Given the description of an element on the screen output the (x, y) to click on. 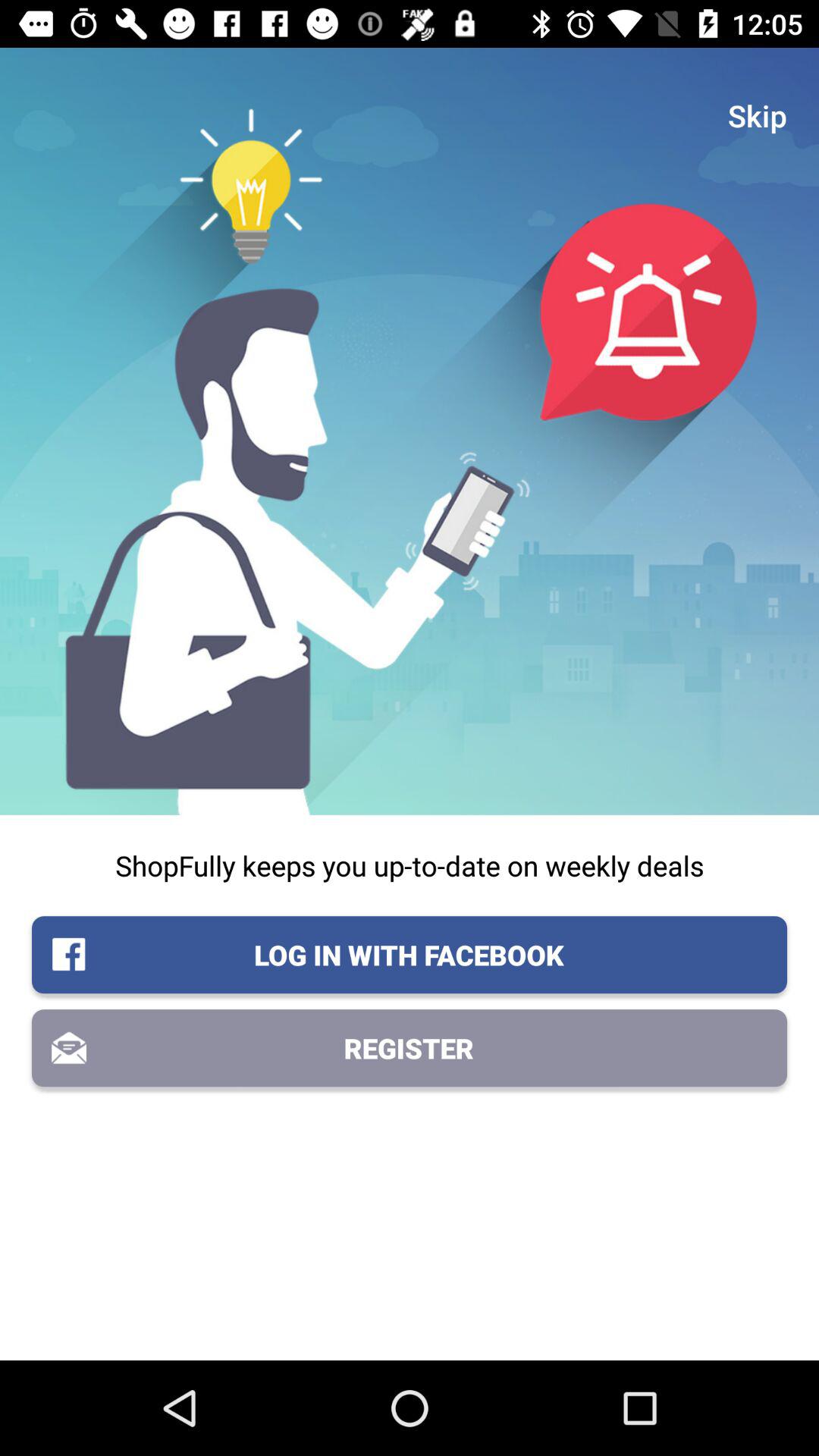
launch log in with (409, 954)
